Given the description of an element on the screen output the (x, y) to click on. 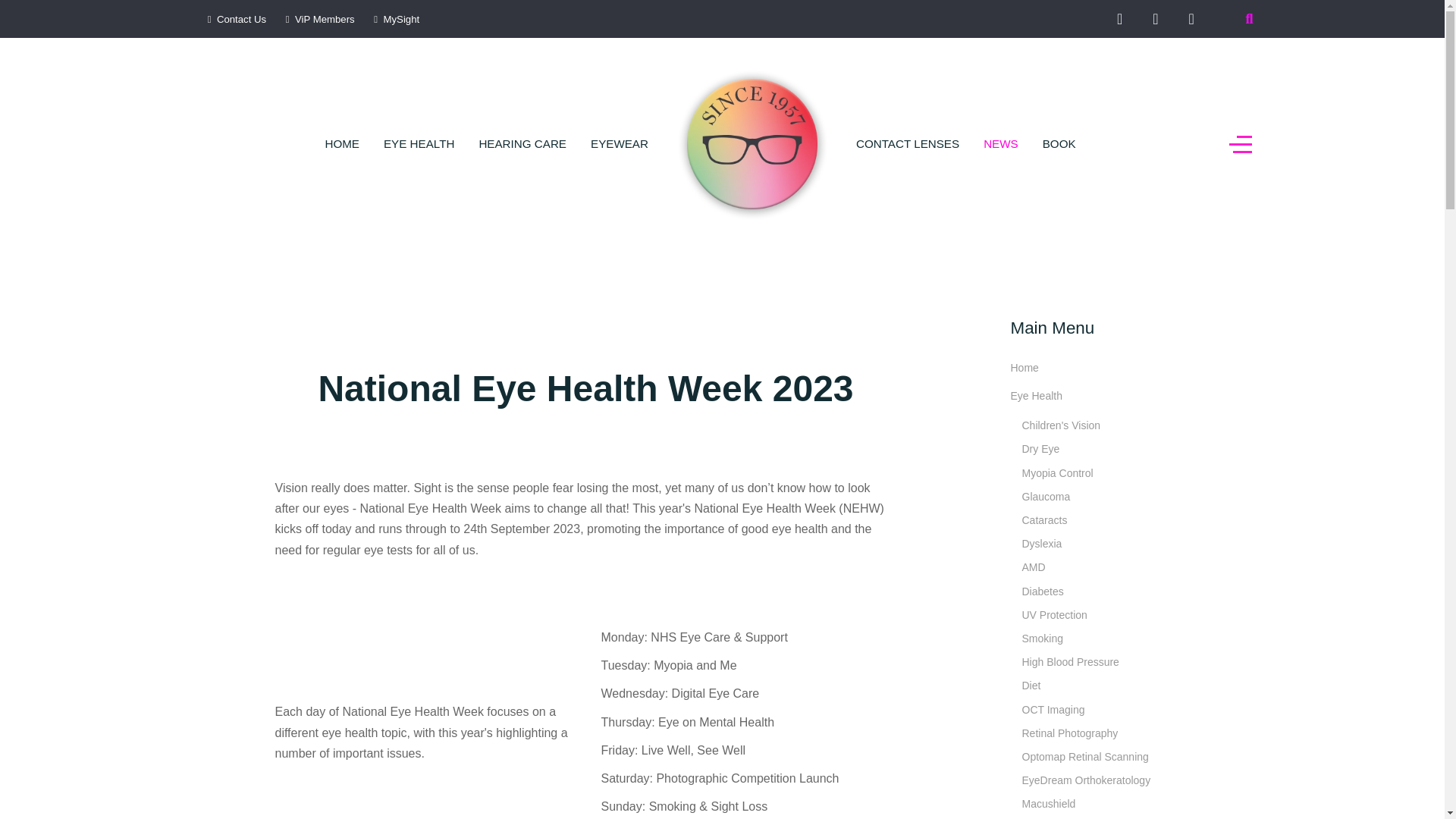
   Contact Us (235, 19)
   ViP Members (318, 19)
   MySight (395, 19)
